Given the description of an element on the screen output the (x, y) to click on. 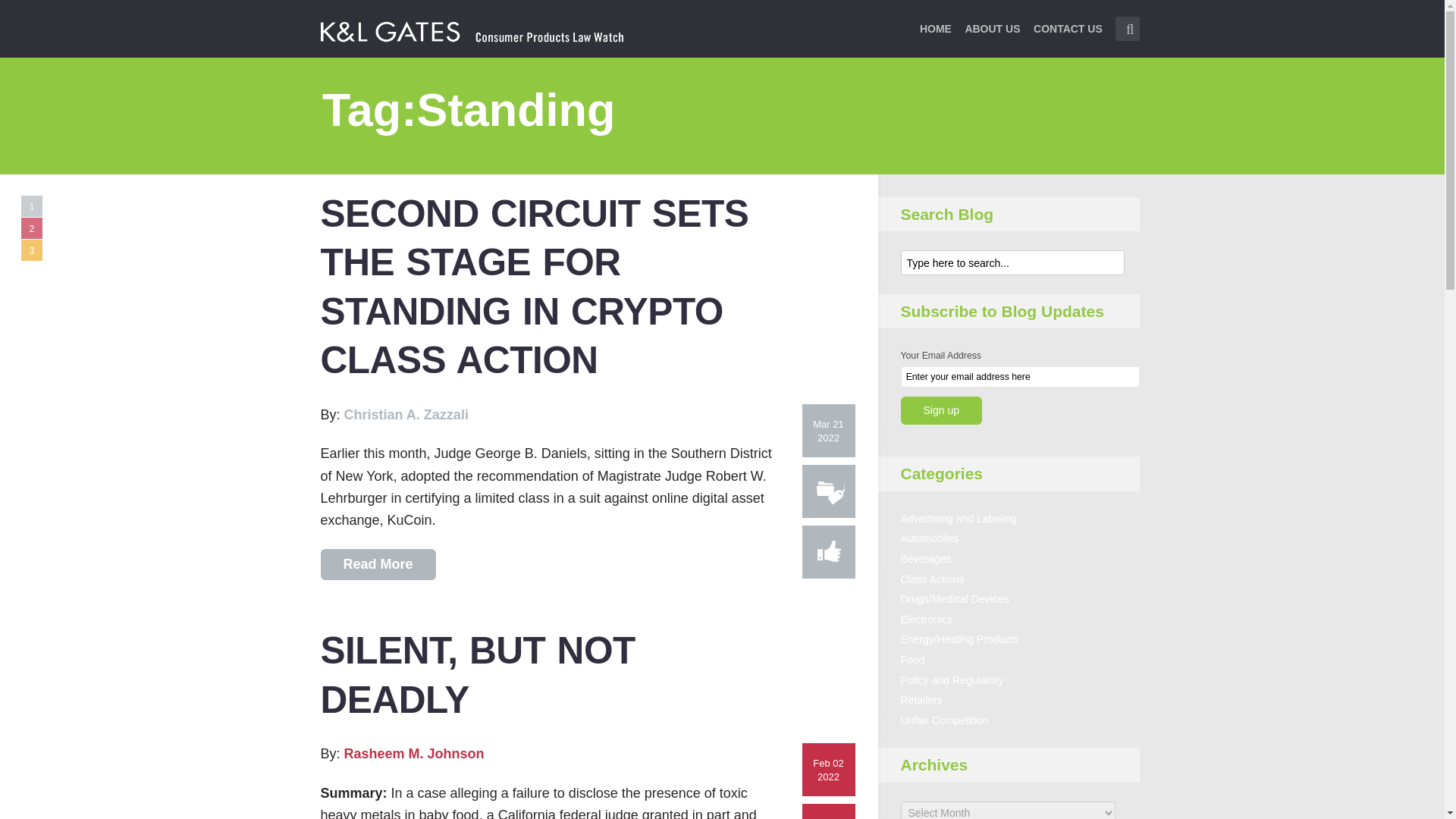
Silent, But Not Deadly (477, 674)
CONTACT US (1067, 37)
Type here to search... (1012, 262)
1 (31, 206)
Read More (377, 564)
Rasheem M. Johnson (413, 753)
3 (31, 250)
Type here to search... (1126, 28)
